Given the description of an element on the screen output the (x, y) to click on. 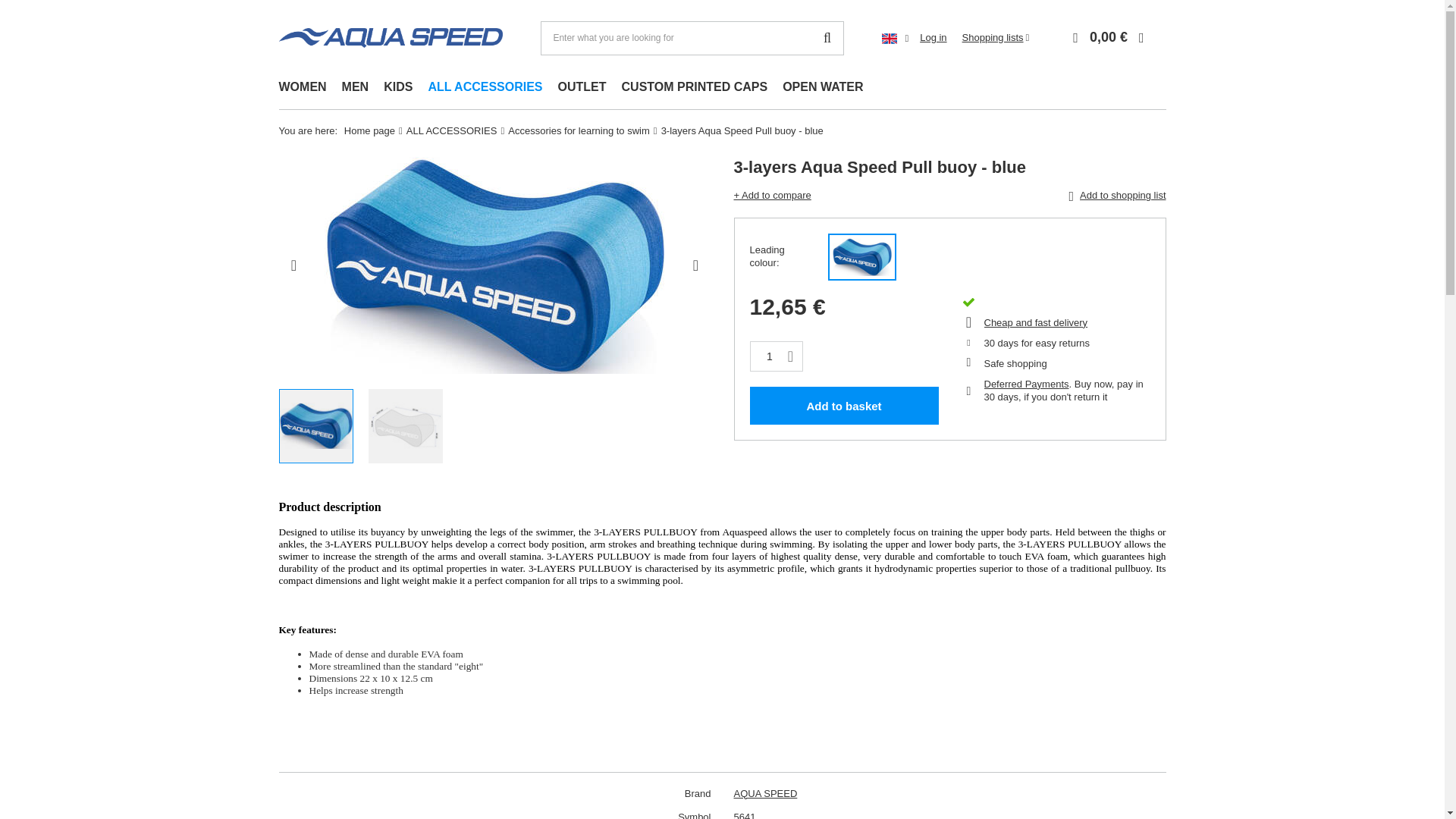
Shopping lists (995, 37)
MEN (355, 88)
Log in (933, 38)
WOMEN (302, 88)
